Given the description of an element on the screen output the (x, y) to click on. 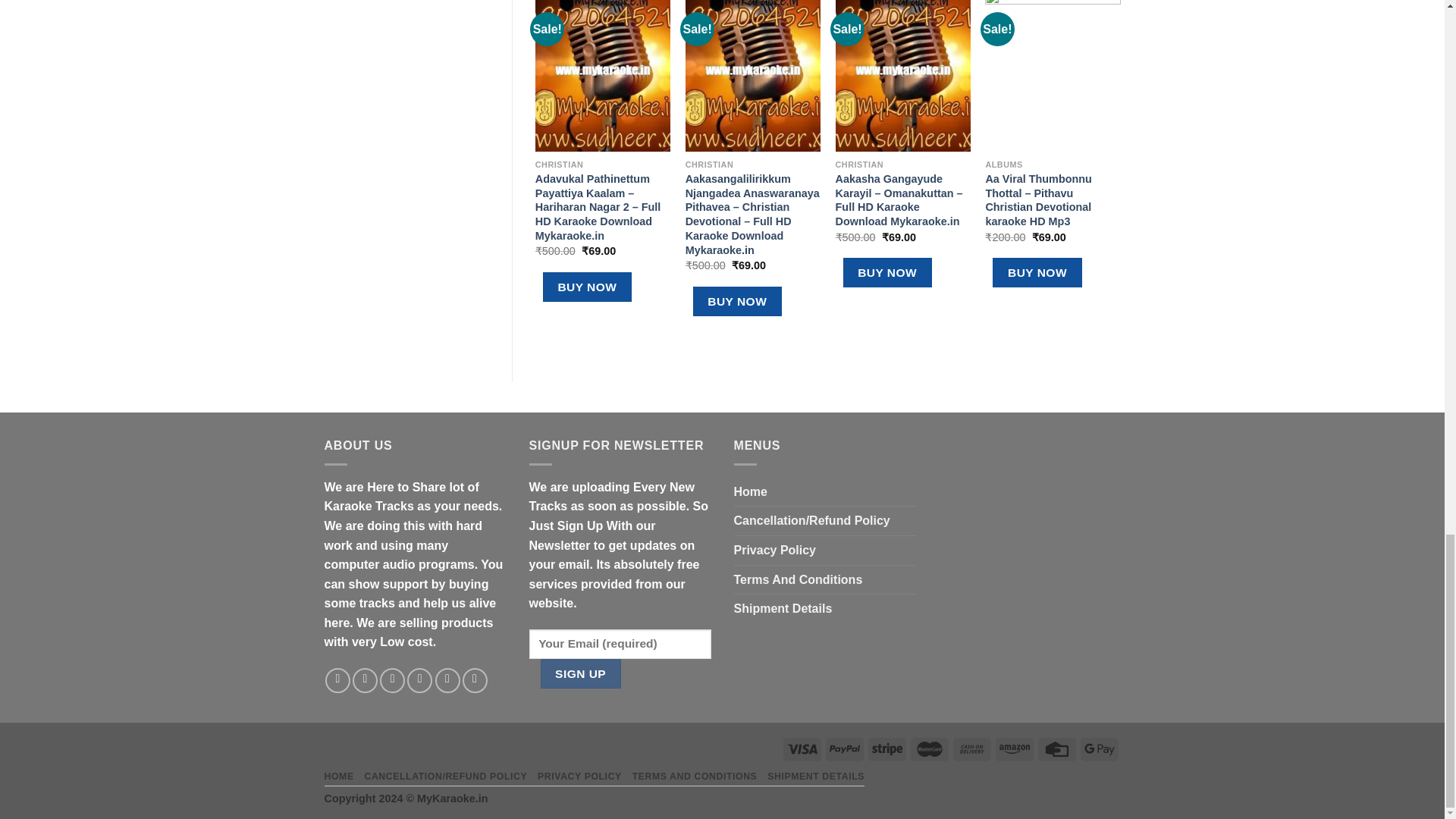
Sign Up (580, 673)
